Given the description of an element on the screen output the (x, y) to click on. 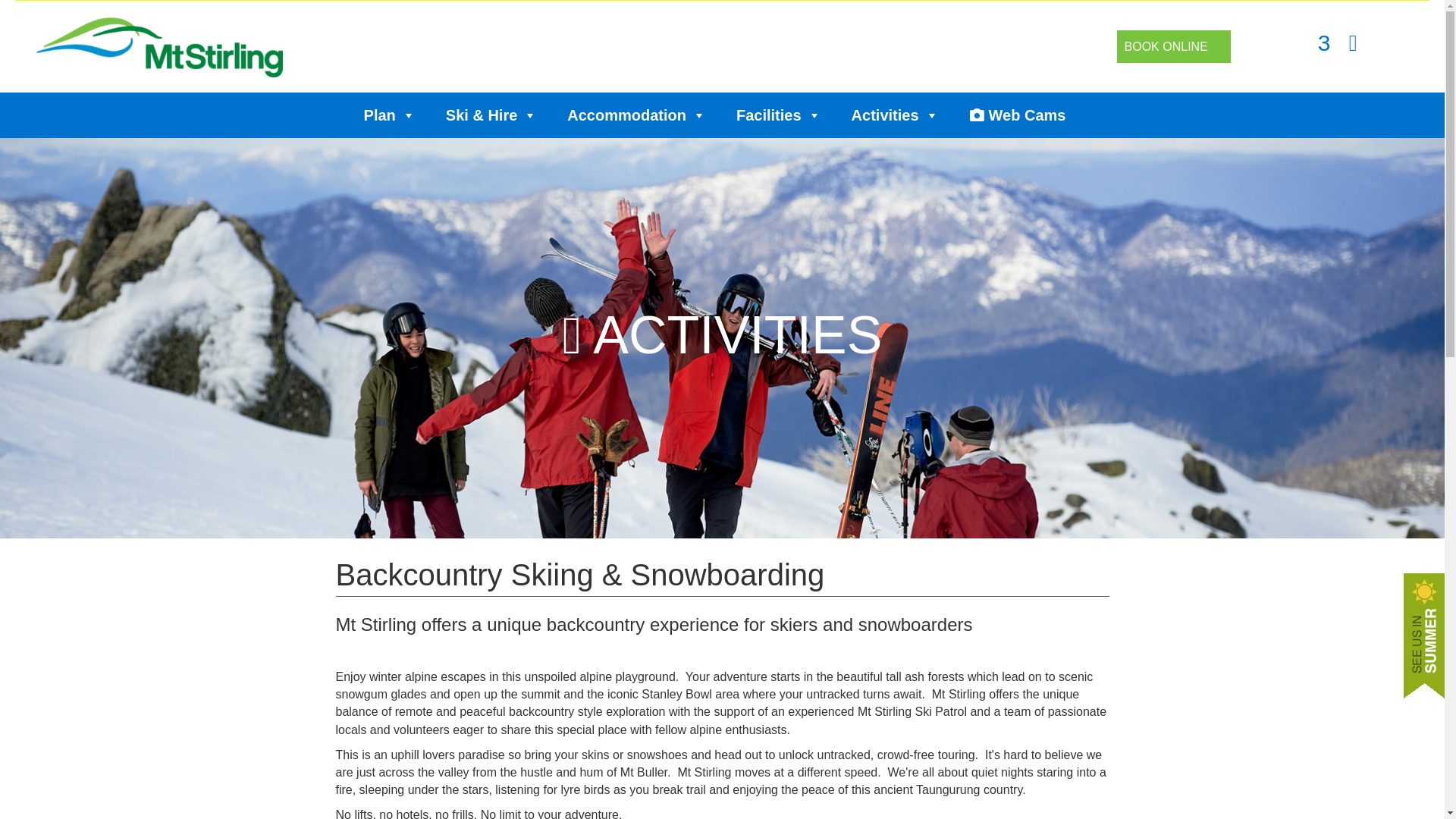
Web Cams (1017, 115)
Facilities (778, 115)
Activities (895, 115)
Plan (389, 115)
Accommodation (636, 115)
3 (1323, 46)
BOOK ONLINE (1166, 46)
